Given the description of an element on the screen output the (x, y) to click on. 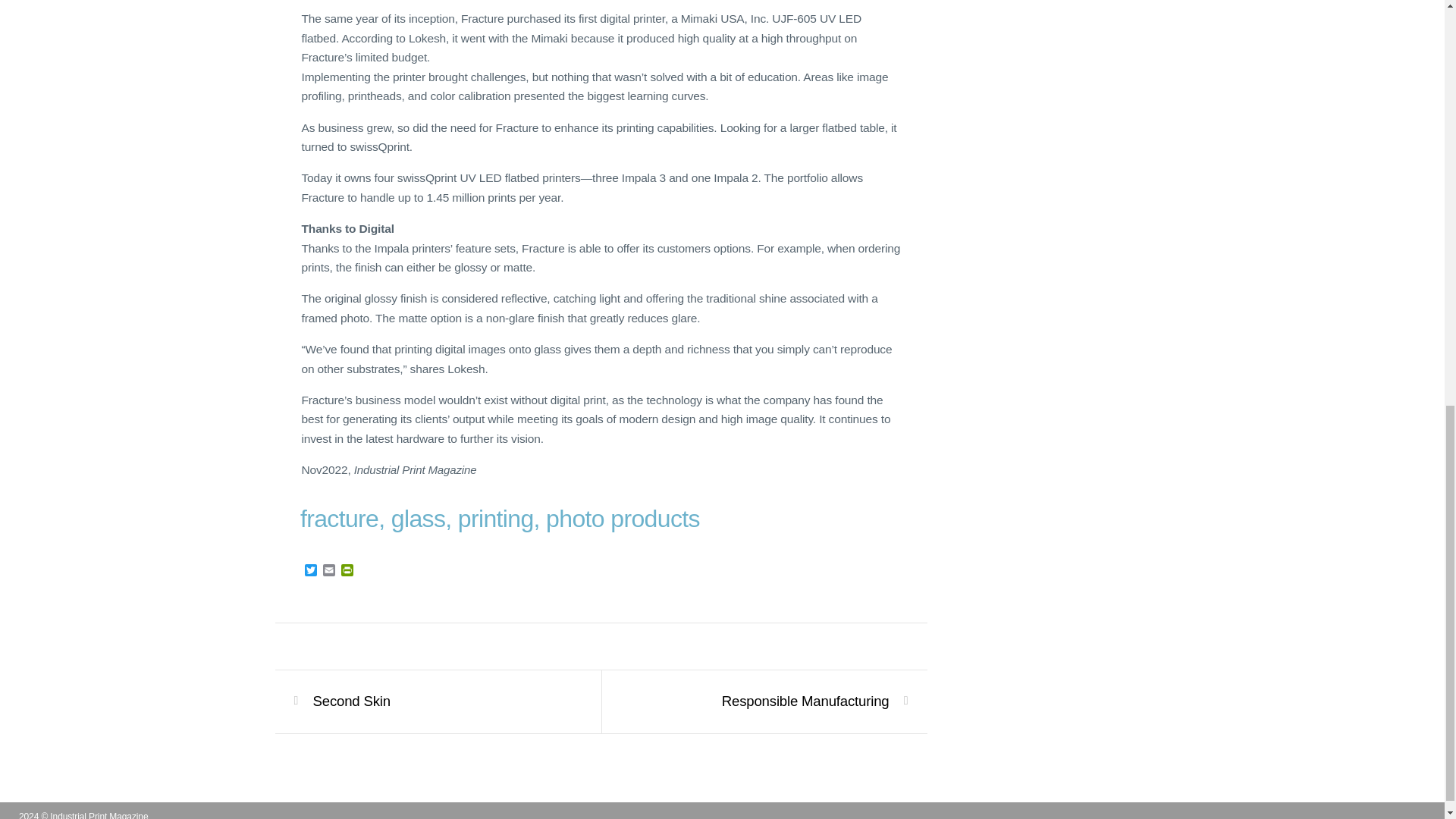
Second Skin (351, 701)
PrintFriendly (346, 571)
Twitter (310, 571)
Email (328, 571)
Next (805, 701)
Previous (351, 701)
Email (328, 571)
Twitter (310, 571)
PrintFriendly (346, 571)
Responsible Manufacturing (805, 701)
